Given the description of an element on the screen output the (x, y) to click on. 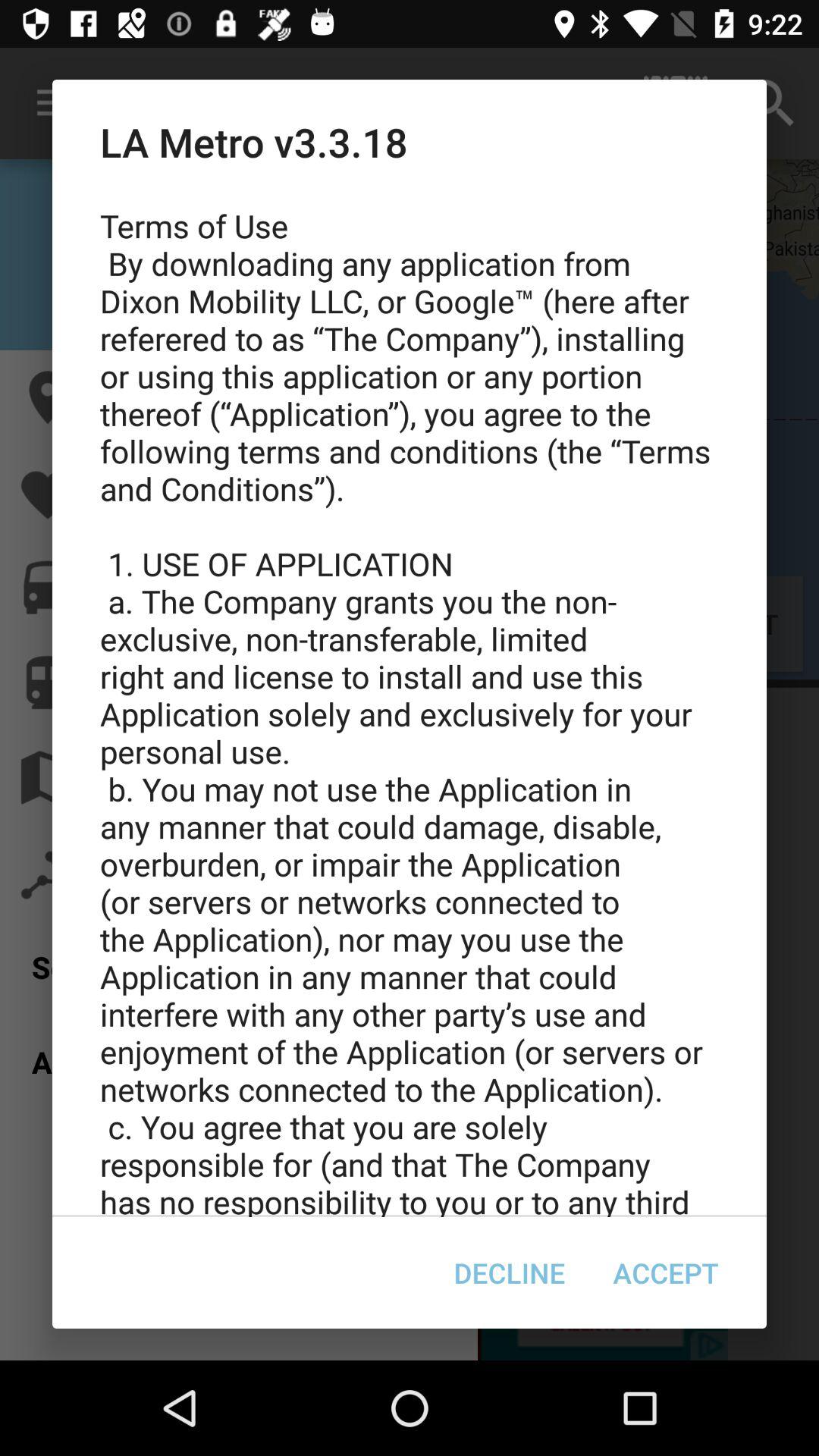
launch item to the left of accept (509, 1272)
